Given the description of an element on the screen output the (x, y) to click on. 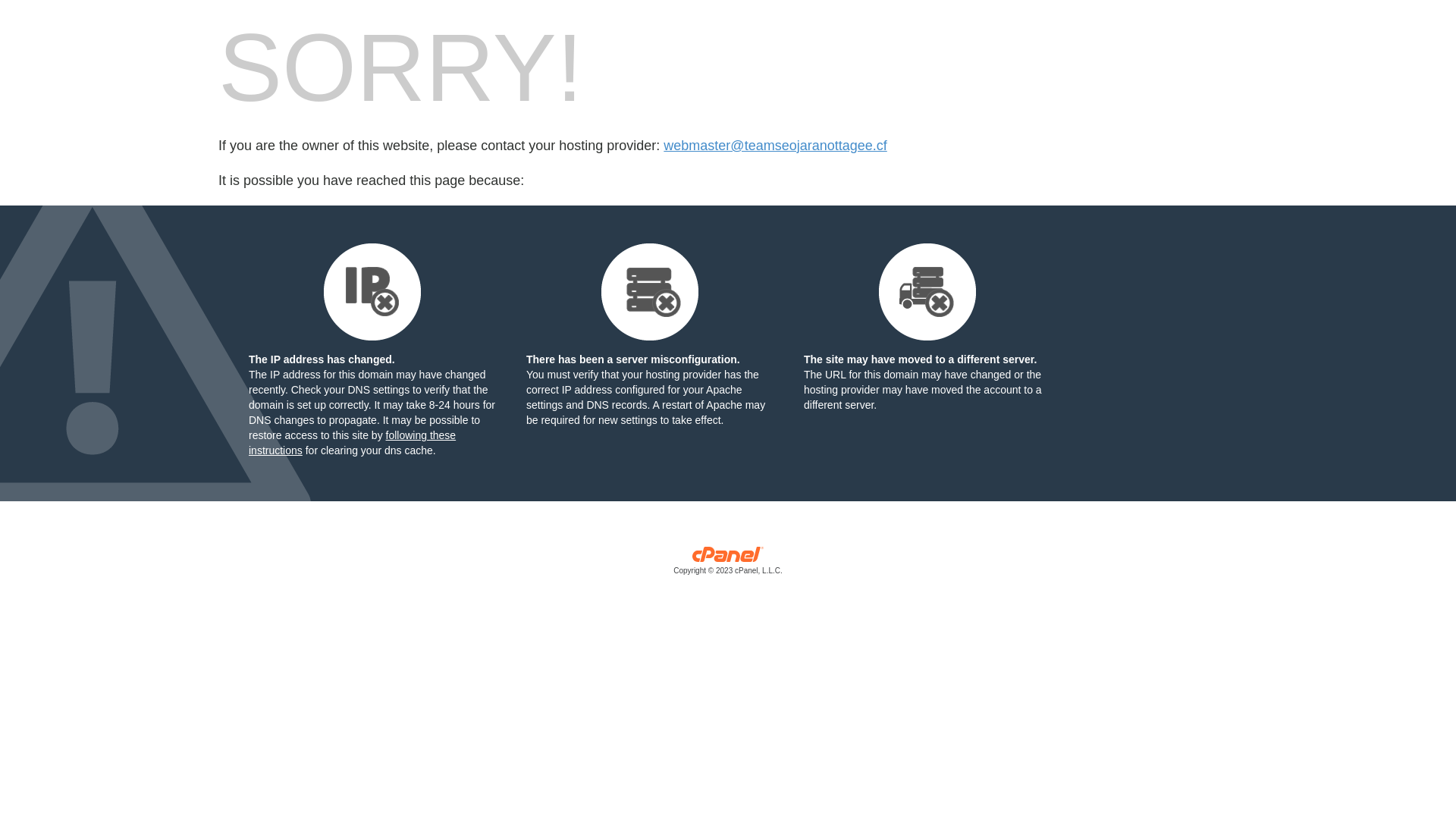
webmaster@teamseojaranottagee.cf Element type: text (774, 145)
following these instructions Element type: text (351, 442)
